Given the description of an element on the screen output the (x, y) to click on. 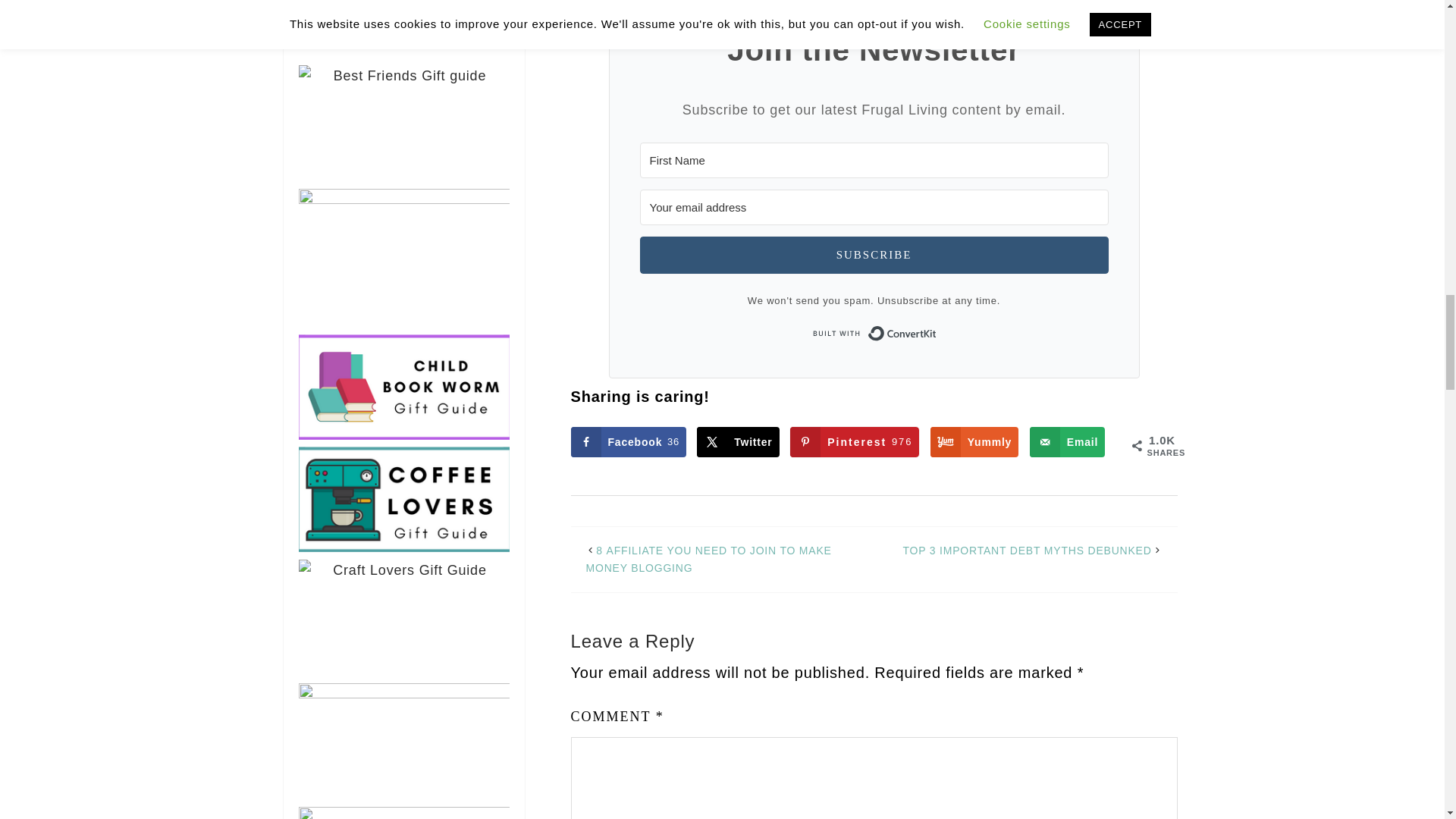
Built with ConvertKit (873, 333)
8 AFFILIATE YOU NEED TO JOIN TO MAKE MONEY BLOGGING (708, 559)
SUBSCRIBE (874, 254)
Yummly (974, 441)
TOP 3 IMPORTANT DEBT MYTHS DEBUNKED (627, 441)
Email (1026, 550)
Twitter (1067, 441)
